Given the description of an element on the screen output the (x, y) to click on. 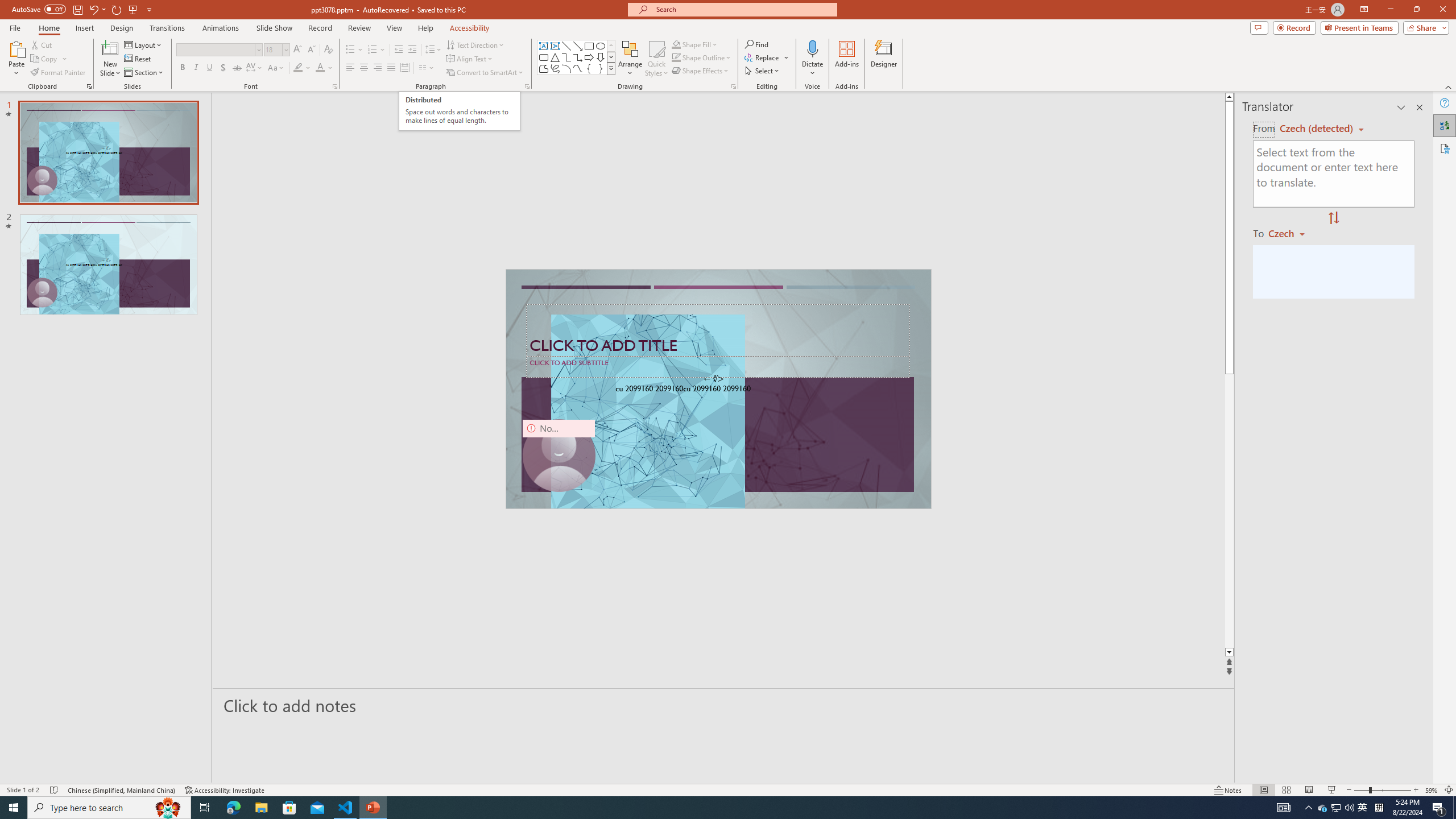
Czech (detected) (1317, 128)
Subtitle TextBox (717, 366)
